Given the description of an element on the screen output the (x, y) to click on. 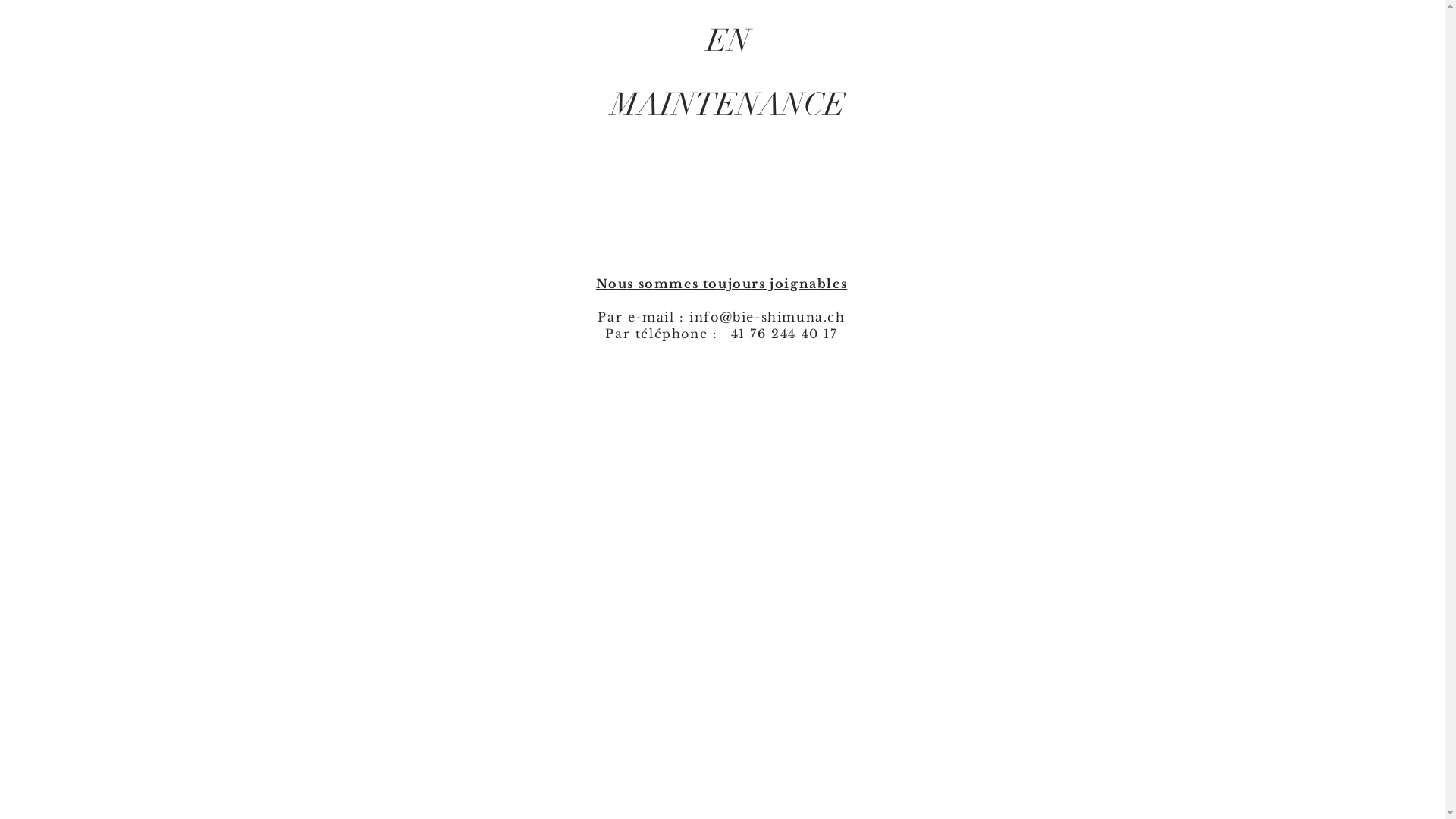
info@bie-shimuna.ch Element type: text (766, 316)
